Given the description of an element on the screen output the (x, y) to click on. 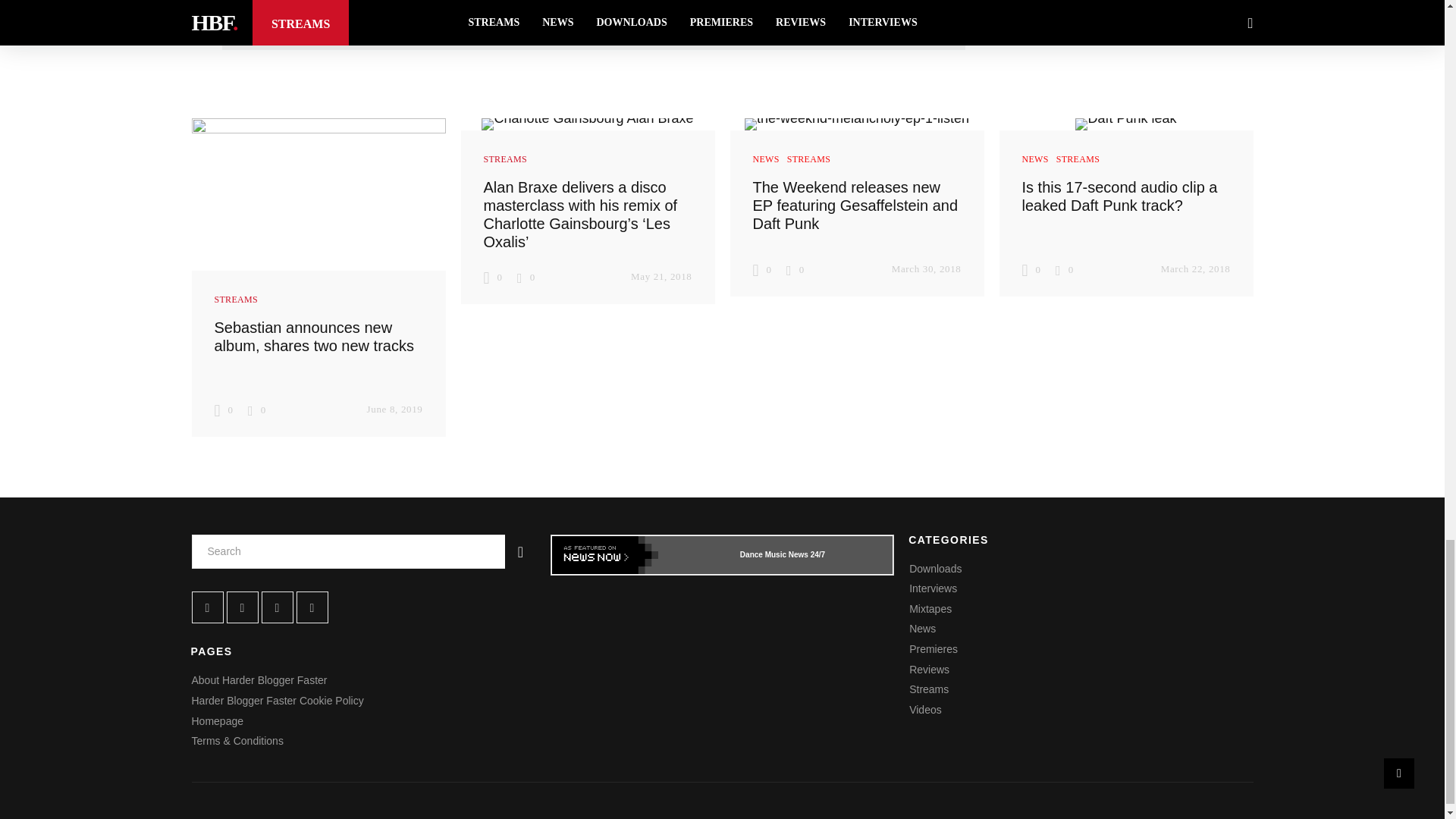
No Comment (525, 276)
View all posts in  (504, 158)
View all posts in  (236, 299)
Sebastian announces new album, shares two new tracks (313, 336)
STREAMS (236, 299)
No Comment (255, 409)
